Given the description of an element on the screen output the (x, y) to click on. 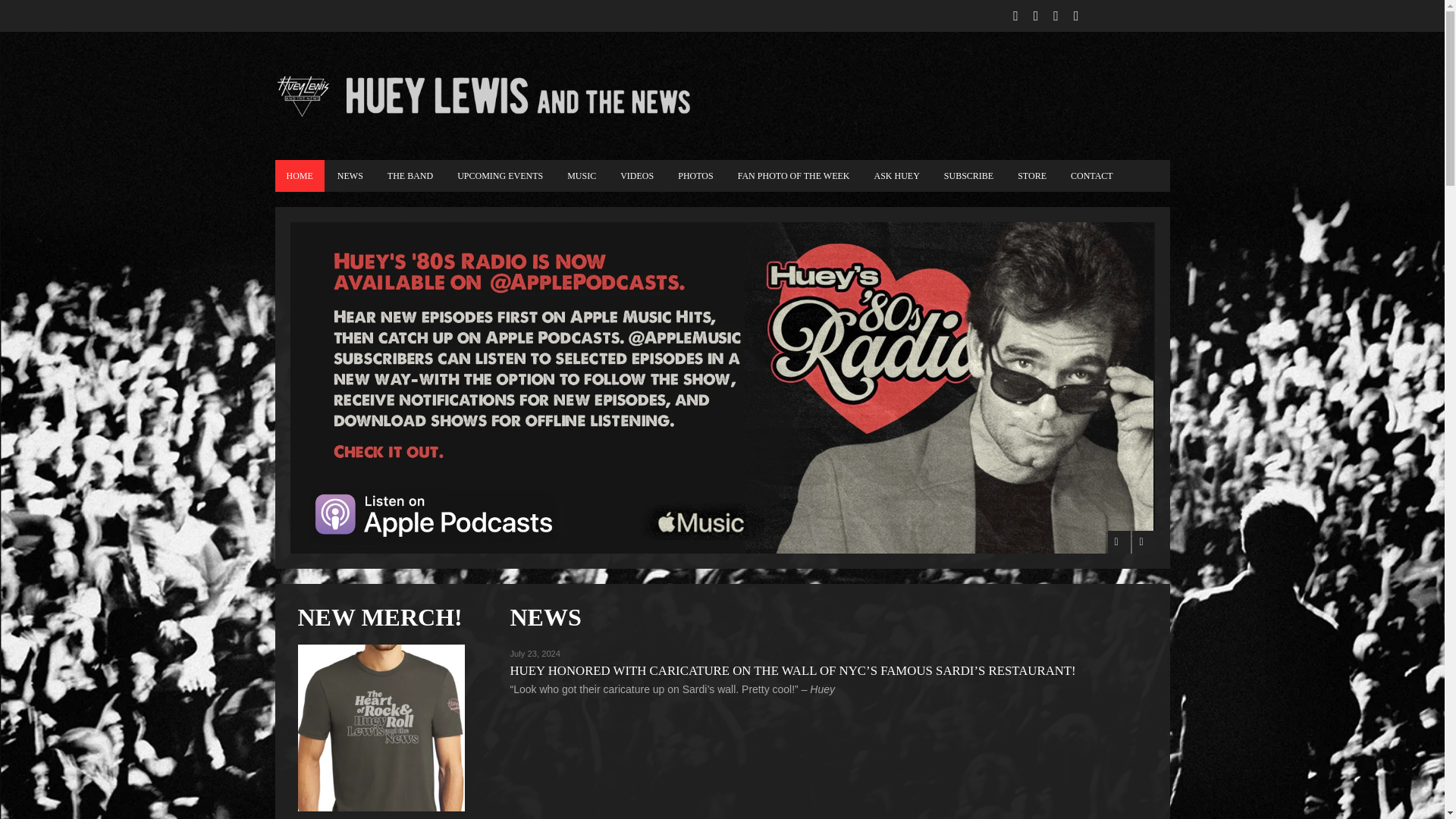
VIDEOS (636, 175)
CONTACT (1091, 175)
FAN PHOTO OF THE WEEK (793, 175)
MUSIC (581, 175)
THE BAND (409, 175)
PHOTOS (694, 175)
July 23, 2024 (534, 653)
ASK HUEY (895, 175)
SUBSCRIBE (968, 175)
NEWS (350, 175)
UPCOMING EVENTS (499, 175)
